Given the description of an element on the screen output the (x, y) to click on. 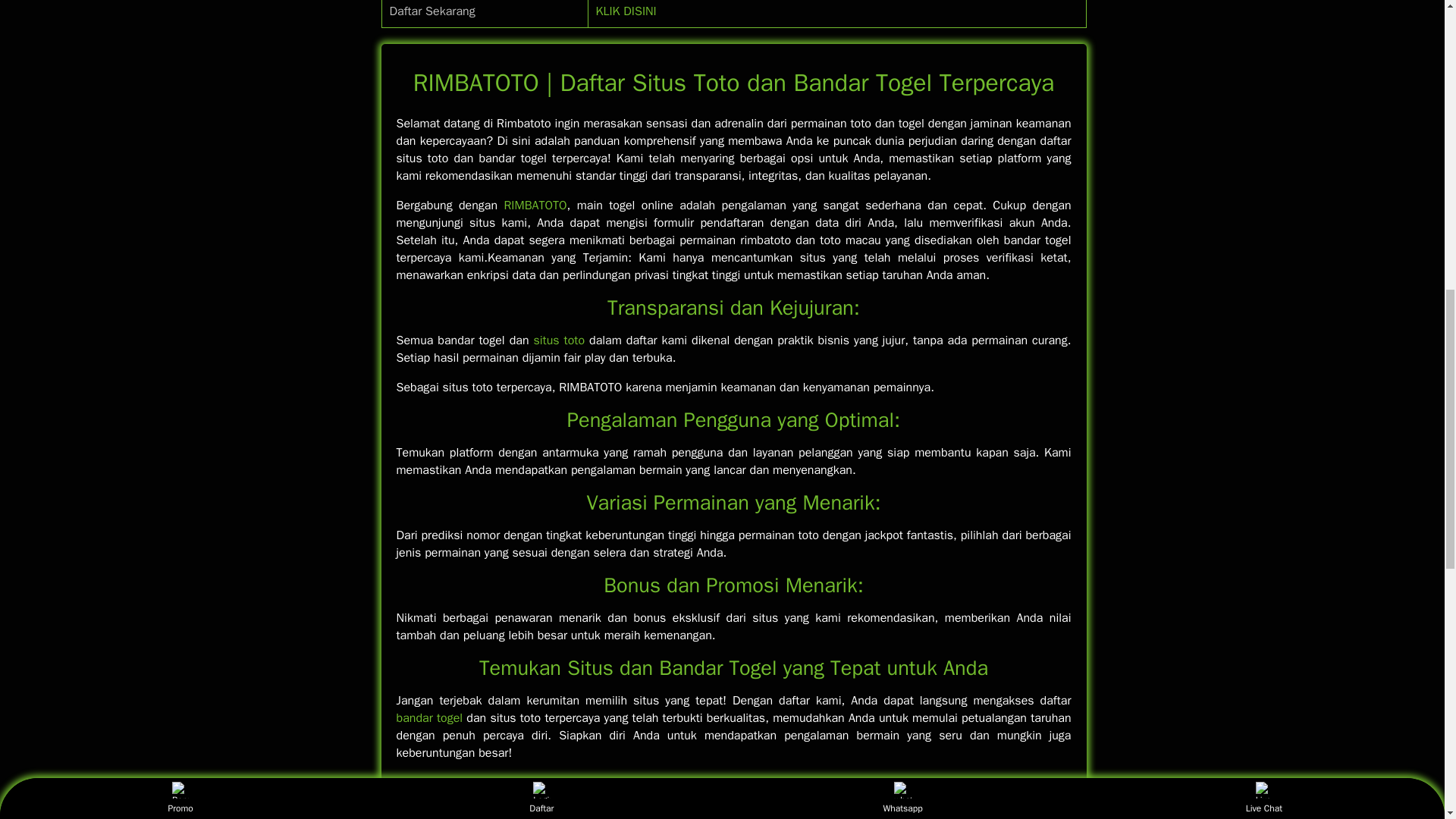
bandar togel (429, 717)
bandar togel (429, 717)
RIMBATOTO (534, 205)
situs toto (558, 340)
RIMBATOTO (534, 205)
situs toto (558, 340)
KLIK DISINI (625, 11)
